Given the description of an element on the screen output the (x, y) to click on. 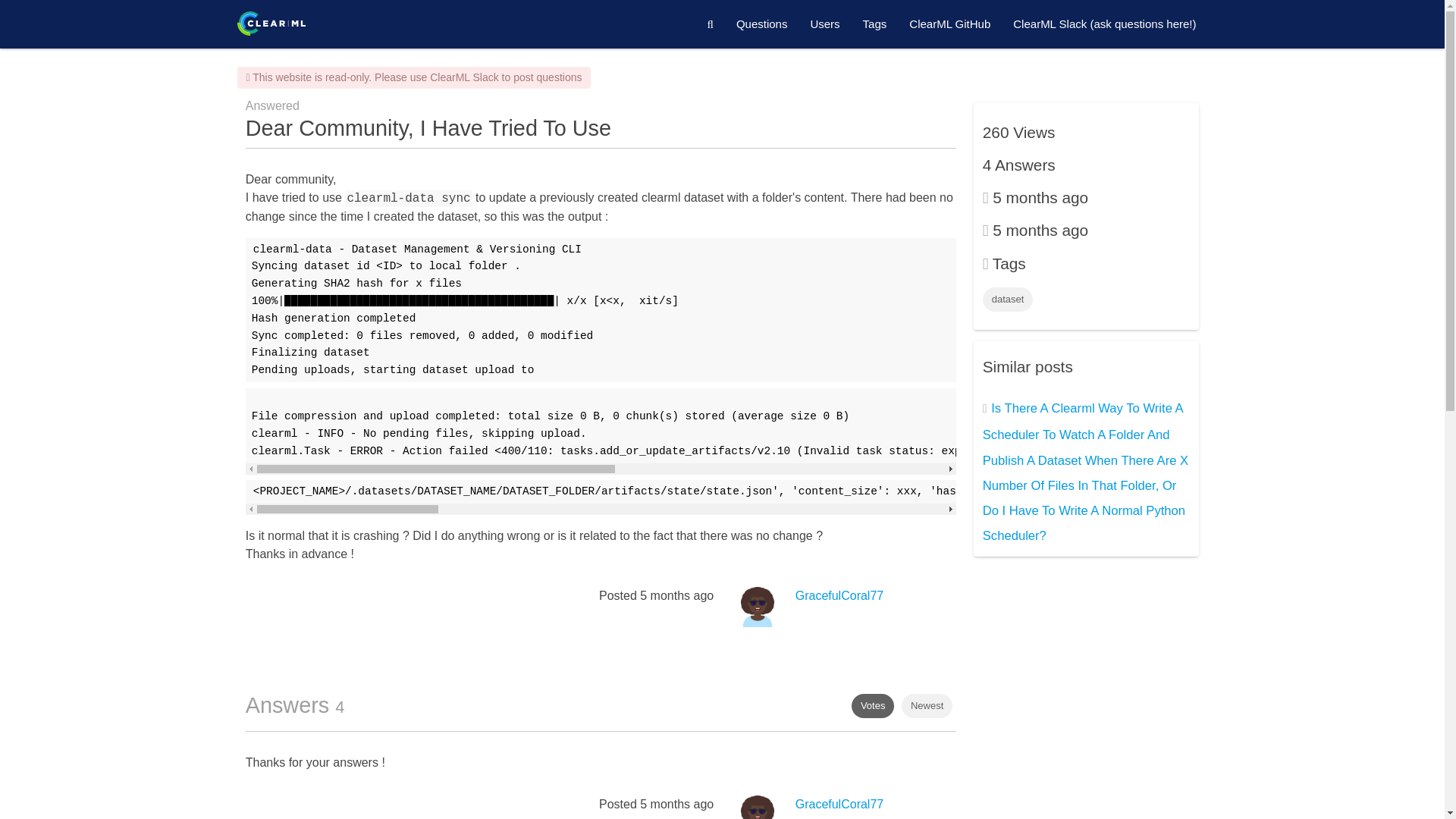
Users (823, 24)
GracefulCoral77 (838, 803)
Questions (762, 24)
ClearML GitHub (949, 24)
Questions (762, 24)
Tags (874, 24)
Tags (874, 24)
ClearML GitHub (949, 24)
GracefulCoral77 (838, 594)
Votes (873, 705)
Users (823, 24)
Newest (926, 705)
13 February 2024, 15:56 (676, 594)
